Given the description of an element on the screen output the (x, y) to click on. 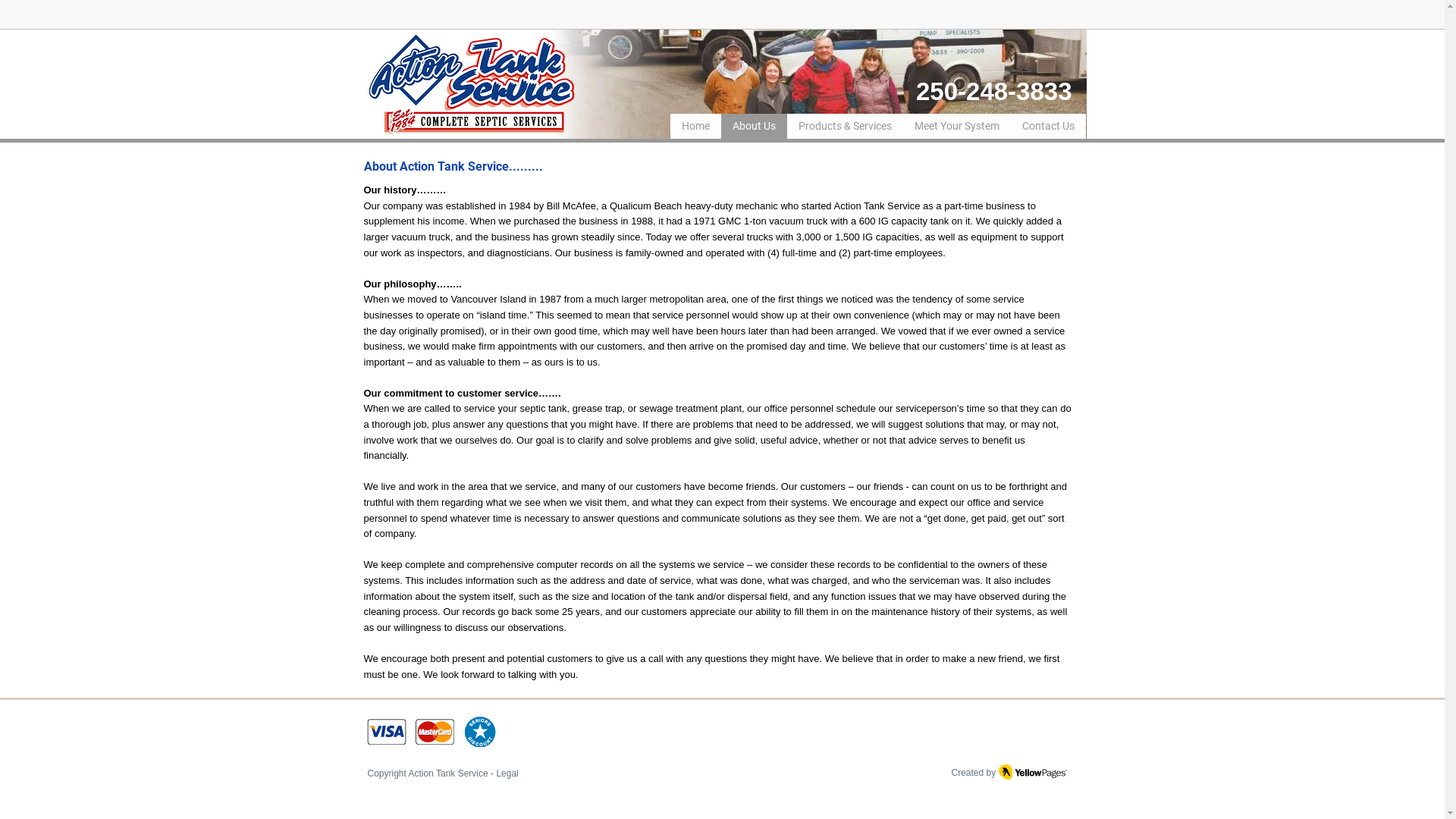
Home Element type: text (695, 126)
Contact Us Element type: text (1047, 126)
Embedded Content Element type: hover (1063, 19)
250-248-3833 Element type: text (994, 91)
About Us Element type: text (753, 126)
Meet Your System Element type: text (956, 126)
Embedded Content Element type: hover (972, 14)
Products & Services Element type: text (845, 126)
Legal Element type: text (506, 773)
Action Tank Service Element type: text (448, 773)
